Given the description of an element on the screen output the (x, y) to click on. 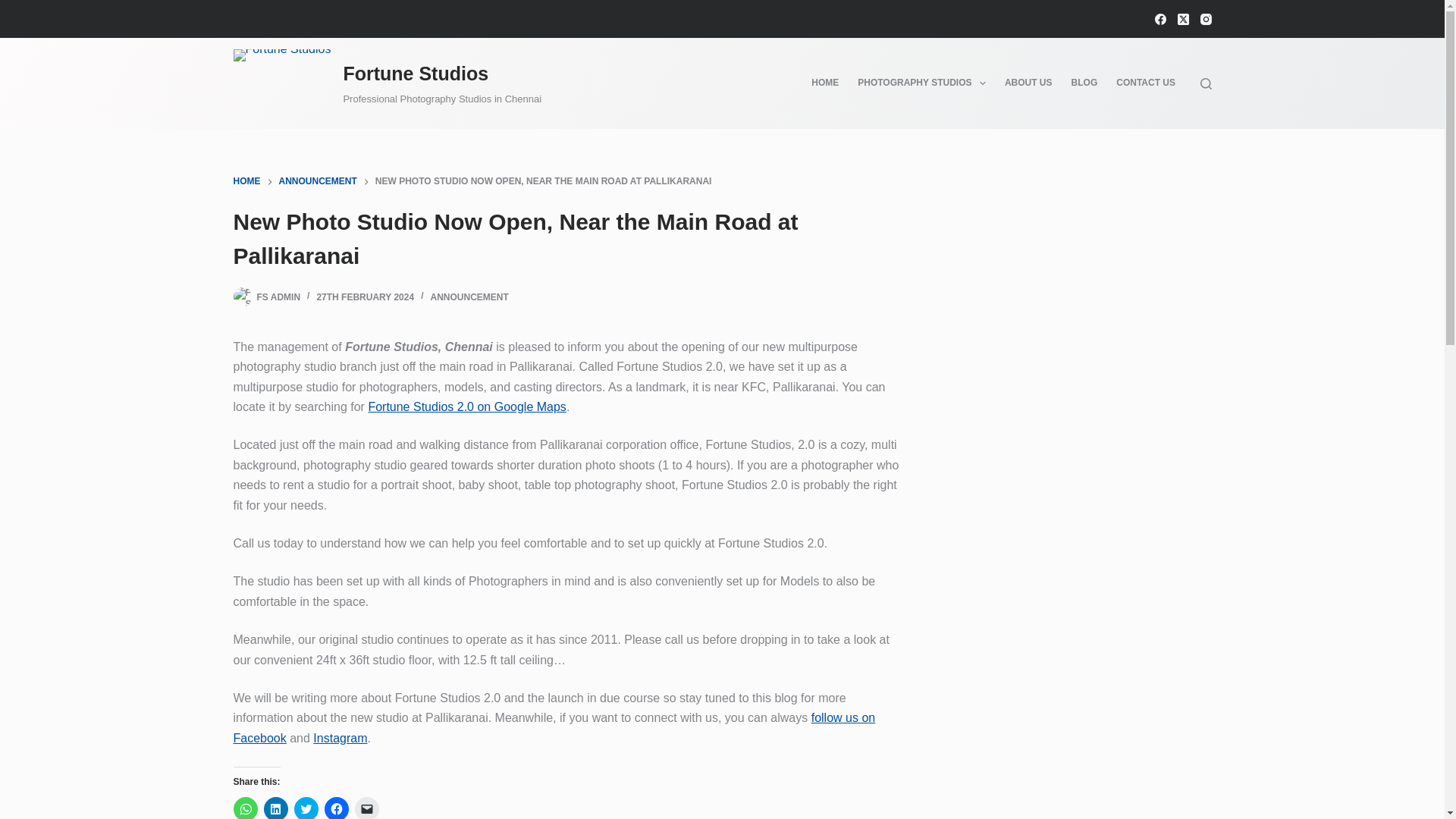
Click to email a link to a friend (366, 807)
Click to share on LinkedIn (275, 807)
Click to share on Twitter (306, 807)
HOME (246, 181)
Click to share on WhatsApp (244, 807)
PHOTOGRAPHY STUDIOS (921, 82)
Posts by FS Admin (277, 296)
ANNOUNCEMENT (468, 296)
Click to share on Facebook (336, 807)
FS ADMIN (277, 296)
Skip to content (15, 7)
Fortune Studios (414, 73)
ANNOUNCEMENT (317, 181)
